Given the description of an element on the screen output the (x, y) to click on. 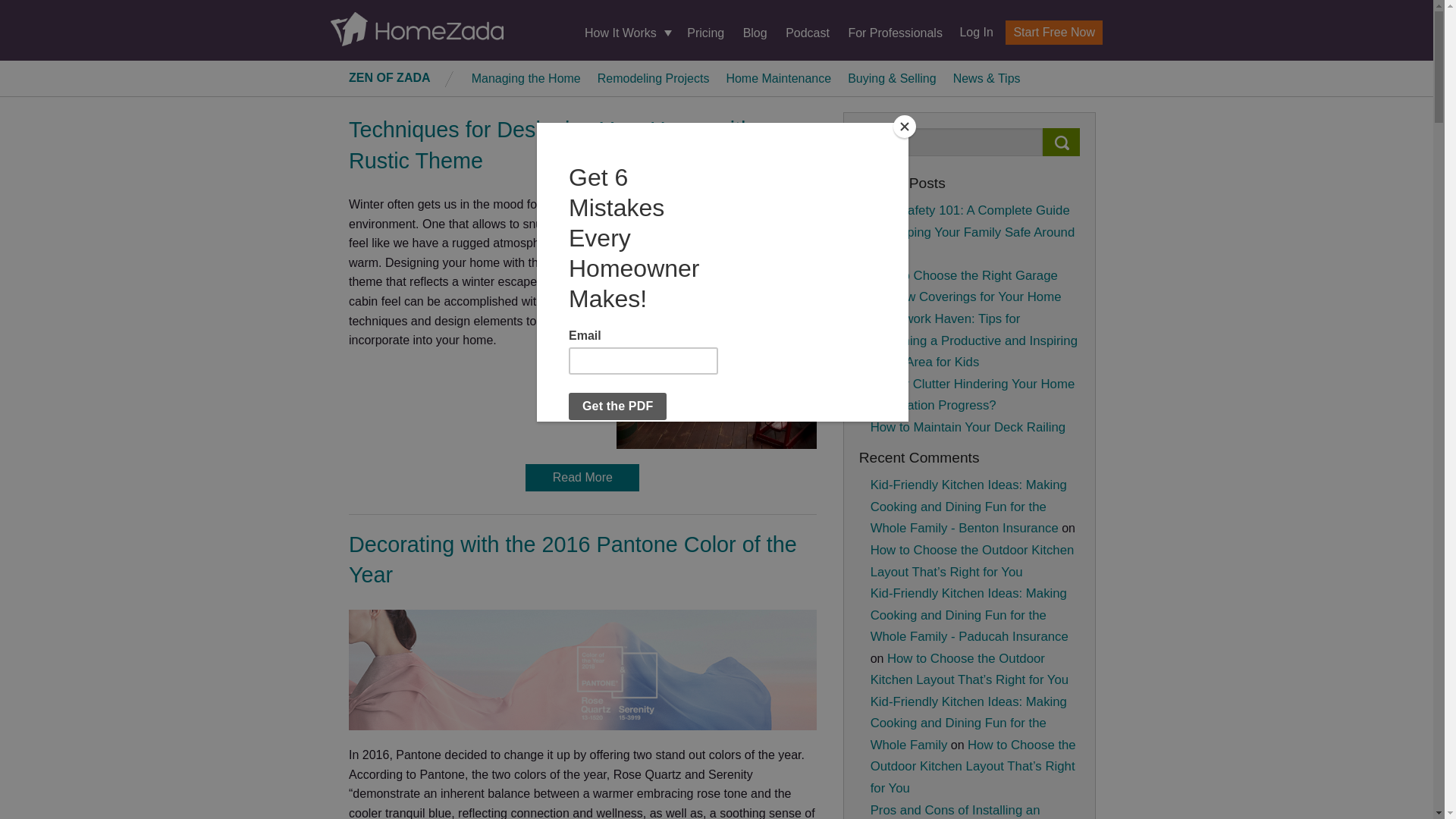
How It Works (626, 33)
Remodeling Projects (653, 77)
Read More (582, 477)
Log In (969, 31)
Blog (754, 32)
Pricing (705, 32)
Start Free Now (1054, 32)
For Professionals (894, 32)
Techniques for Designing Your Home with a Rustic Theme (560, 144)
ZEN OF ZADA (389, 77)
Managing the Home (525, 77)
Decorating with the 2016 Pantone Color of the Year (572, 559)
Podcast (807, 32)
Home Maintenance (778, 77)
